Given the description of an element on the screen output the (x, y) to click on. 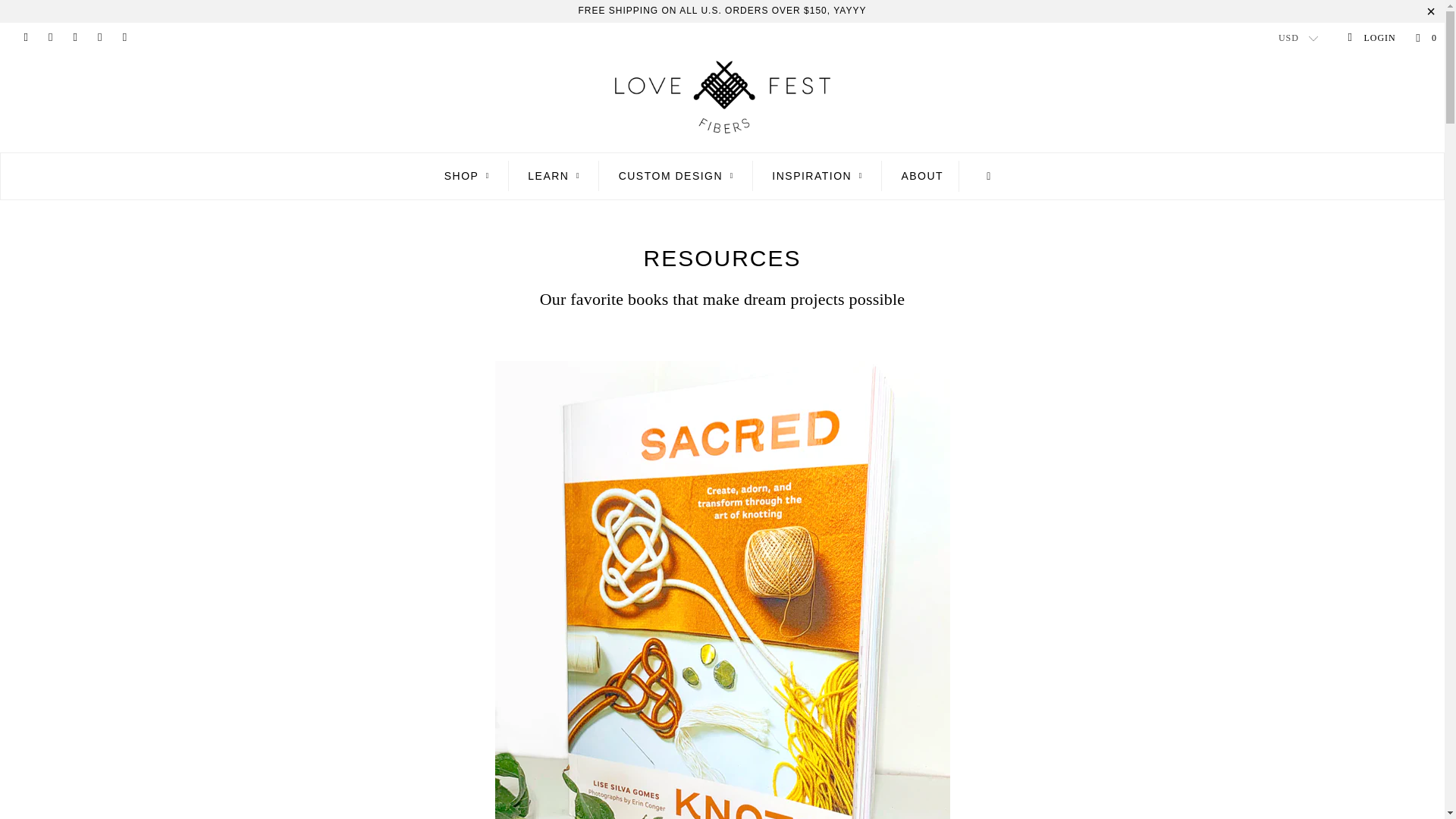
Search (989, 175)
Love Fest Fibers on Instagram (99, 37)
My Account  (1370, 37)
Love Fest Fibers on Pinterest (74, 37)
Love Fest Fibers on YouTube (49, 37)
Love Fest Fibers on Facebook (25, 37)
Email Love Fest Fibers (124, 37)
